Given the description of an element on the screen output the (x, y) to click on. 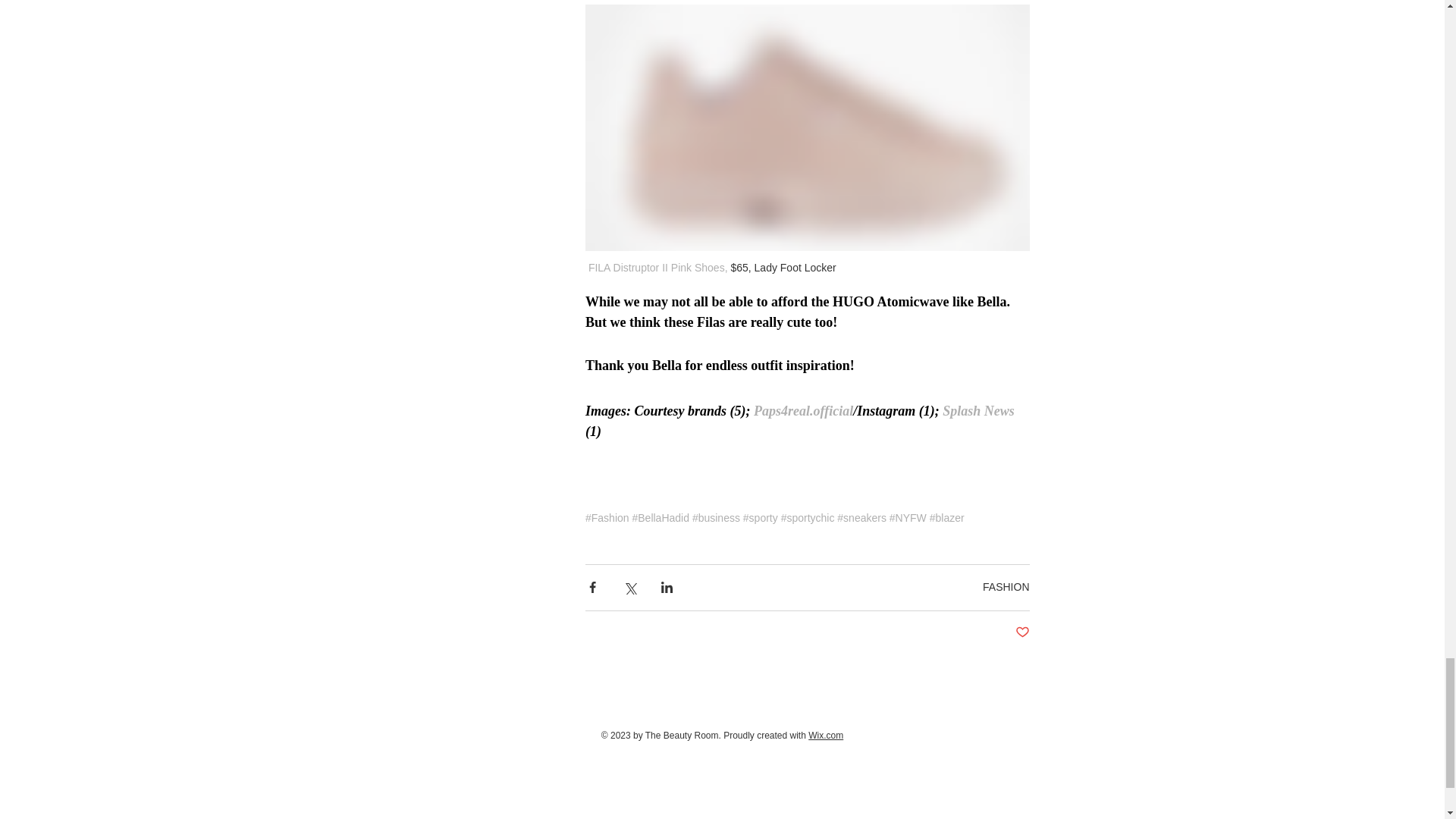
FASHION (1005, 586)
Post not marked as liked (1021, 632)
Paps4real.official (803, 410)
 Splash News (976, 410)
Wix.com (825, 735)
 FILA Distruptor II Pink Shoes, (656, 267)
